Given the description of an element on the screen output the (x, y) to click on. 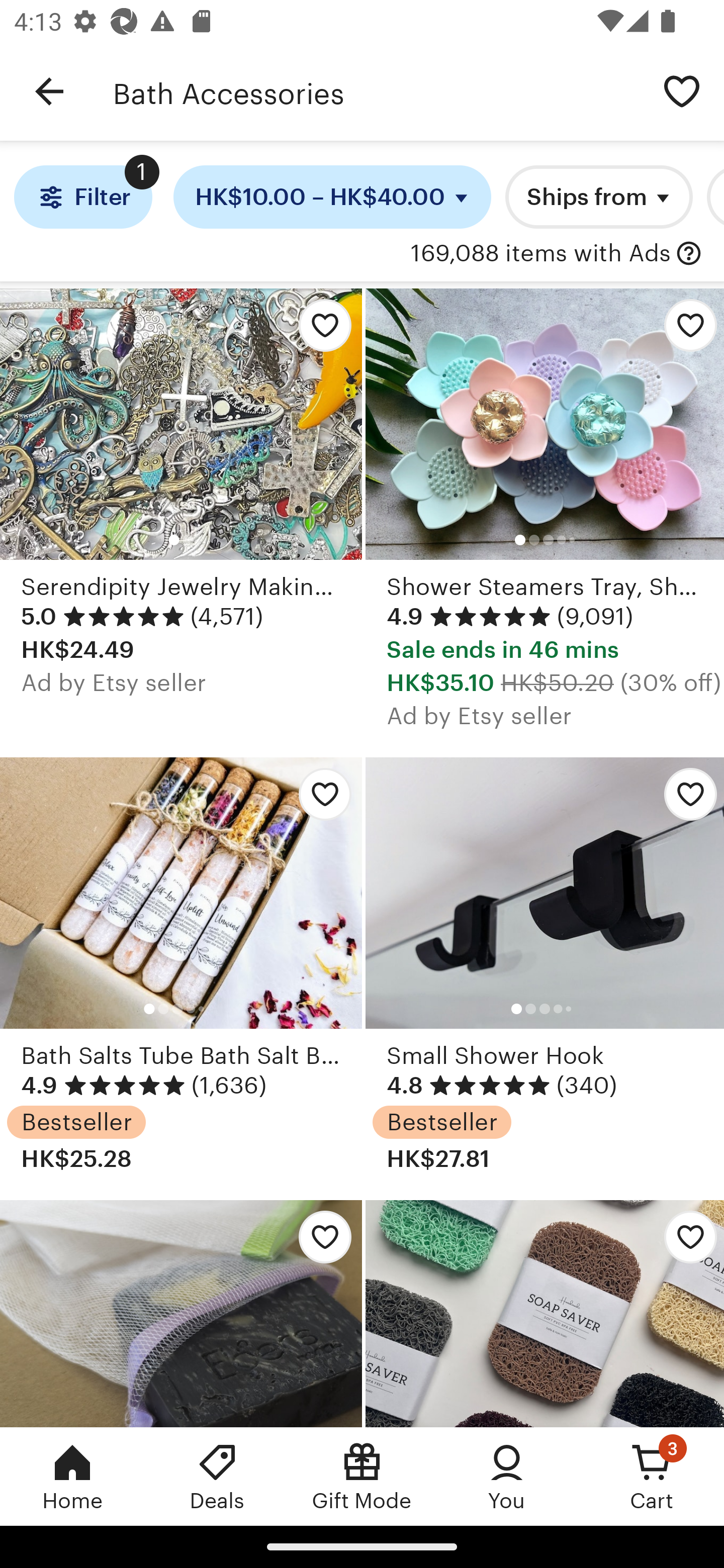
Navigate up (49, 91)
Save search (681, 90)
Bath Accessories (375, 91)
Filter (82, 197)
HK$10.00 – HK$40.00 (331, 197)
Ships from (598, 197)
169,088 items with Ads (540, 253)
with Ads (688, 253)
Add Small Shower Hook to favorites (683, 799)
Add Soap bag to favorites (181, 1312)
Add Soap bag to favorites (319, 1241)
Add Soap Savers to favorites (544, 1312)
Add Soap Savers to favorites (683, 1241)
Deals (216, 1475)
Gift Mode (361, 1475)
You (506, 1475)
Cart, 3 new notifications Cart (651, 1475)
